Given the description of an element on the screen output the (x, y) to click on. 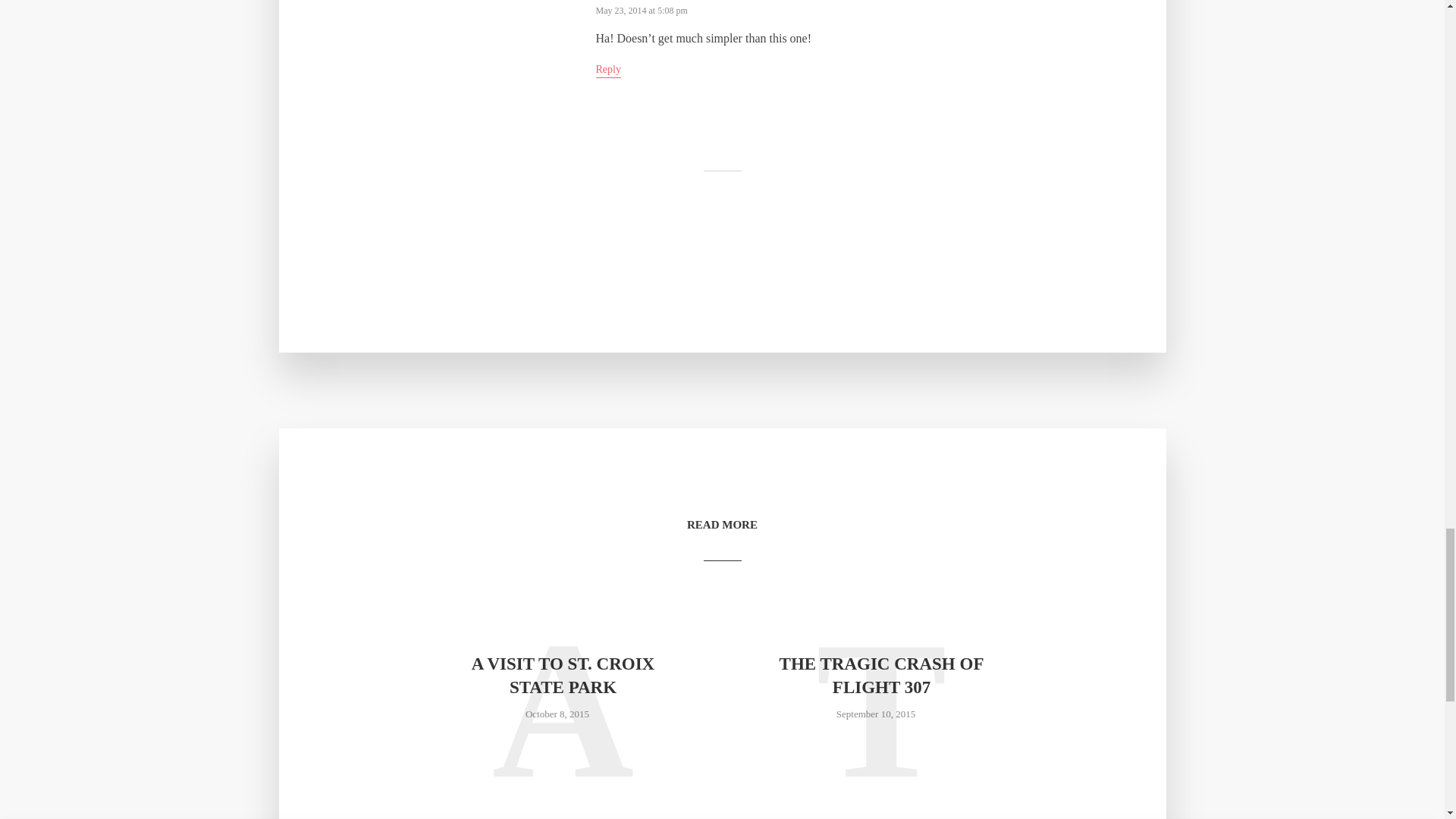
THE TRAGIC CRASH OF FLIGHT 307 (880, 675)
May 23, 2014 at 5:08 pm (641, 9)
A VISIT TO ST. CROIX STATE PARK (562, 675)
Reply (608, 70)
